Given the description of an element on the screen output the (x, y) to click on. 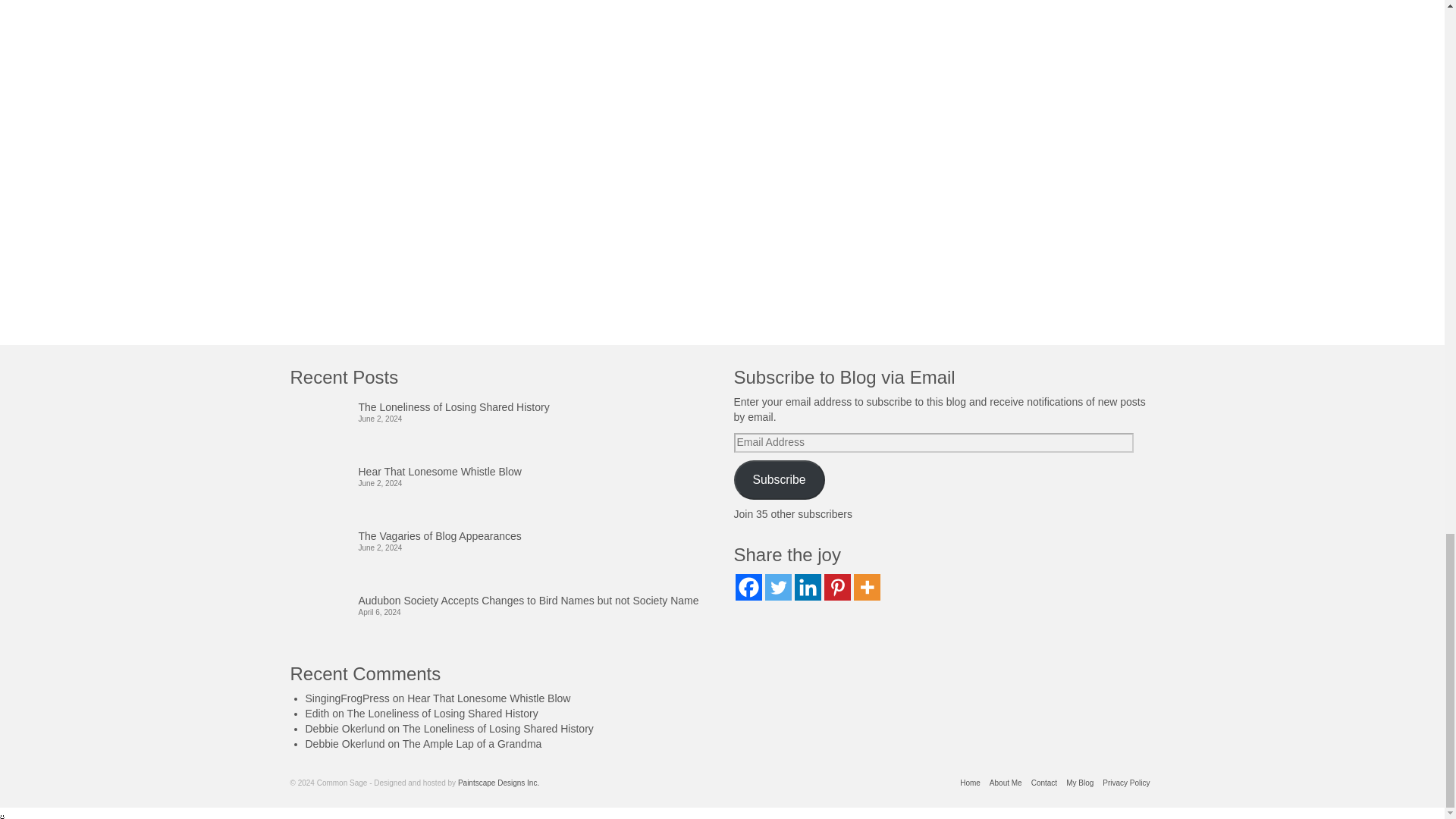
Hear That Lonesome Whistle Blow (488, 698)
The Ample Lap of a Grandma (472, 743)
The Vagaries of Blog Appearances (503, 533)
Subscribe (779, 479)
Hear That Lonesome Whistle Blow (503, 469)
The Loneliness of Losing Shared History (498, 728)
SingingFrogPress (346, 698)
The Loneliness of Losing Shared History (503, 404)
The Loneliness of Losing Shared History (503, 404)
Hear That Lonesome Whistle Blow (503, 469)
The Loneliness of Losing Shared History (442, 713)
The Vagaries of Blog Appearances (503, 533)
